Given the description of an element on the screen output the (x, y) to click on. 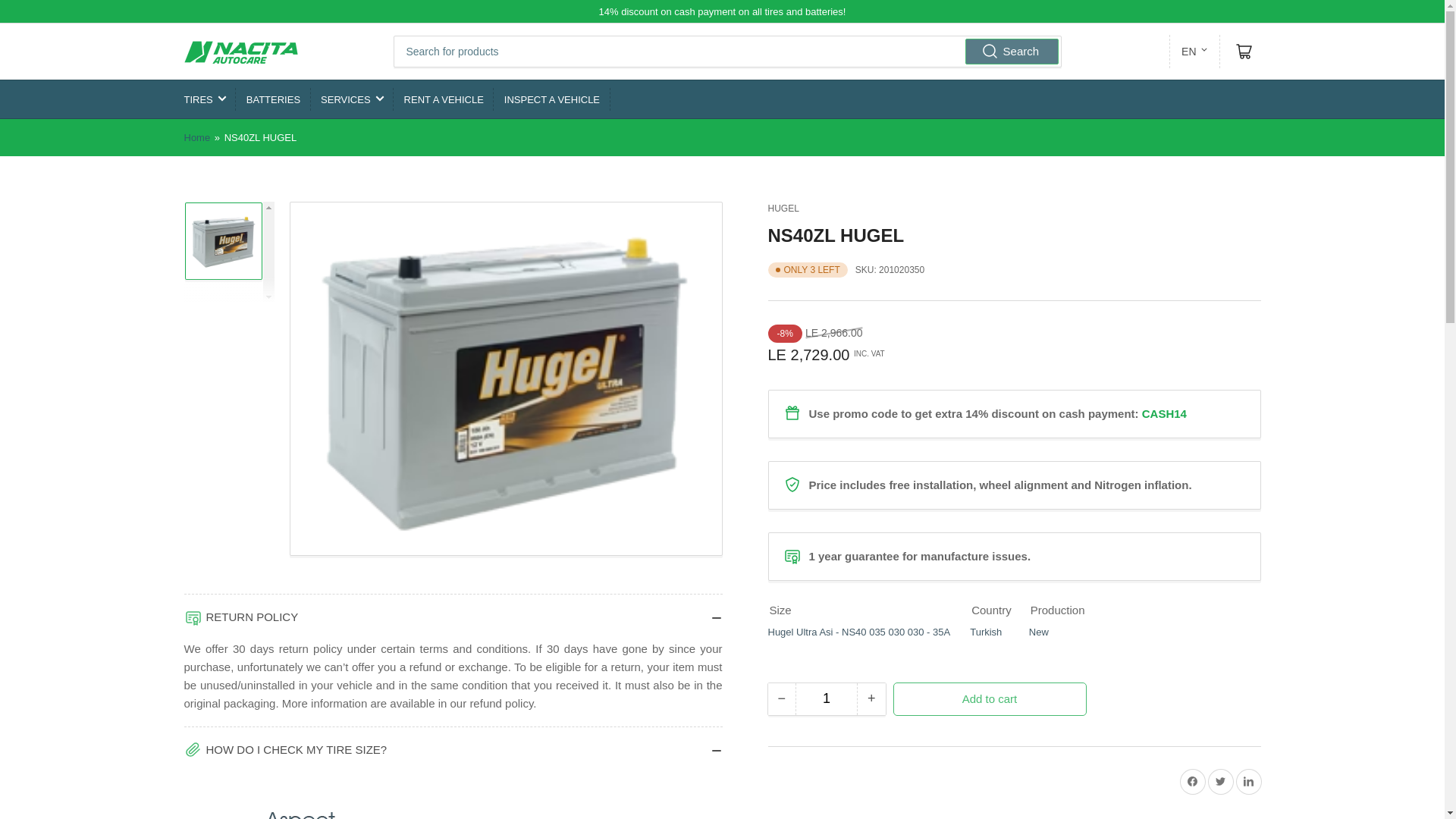
Hugel (782, 208)
TIRES (204, 98)
1 (825, 698)
Search (1012, 51)
Open mini cart (1243, 51)
